Given the description of an element on the screen output the (x, y) to click on. 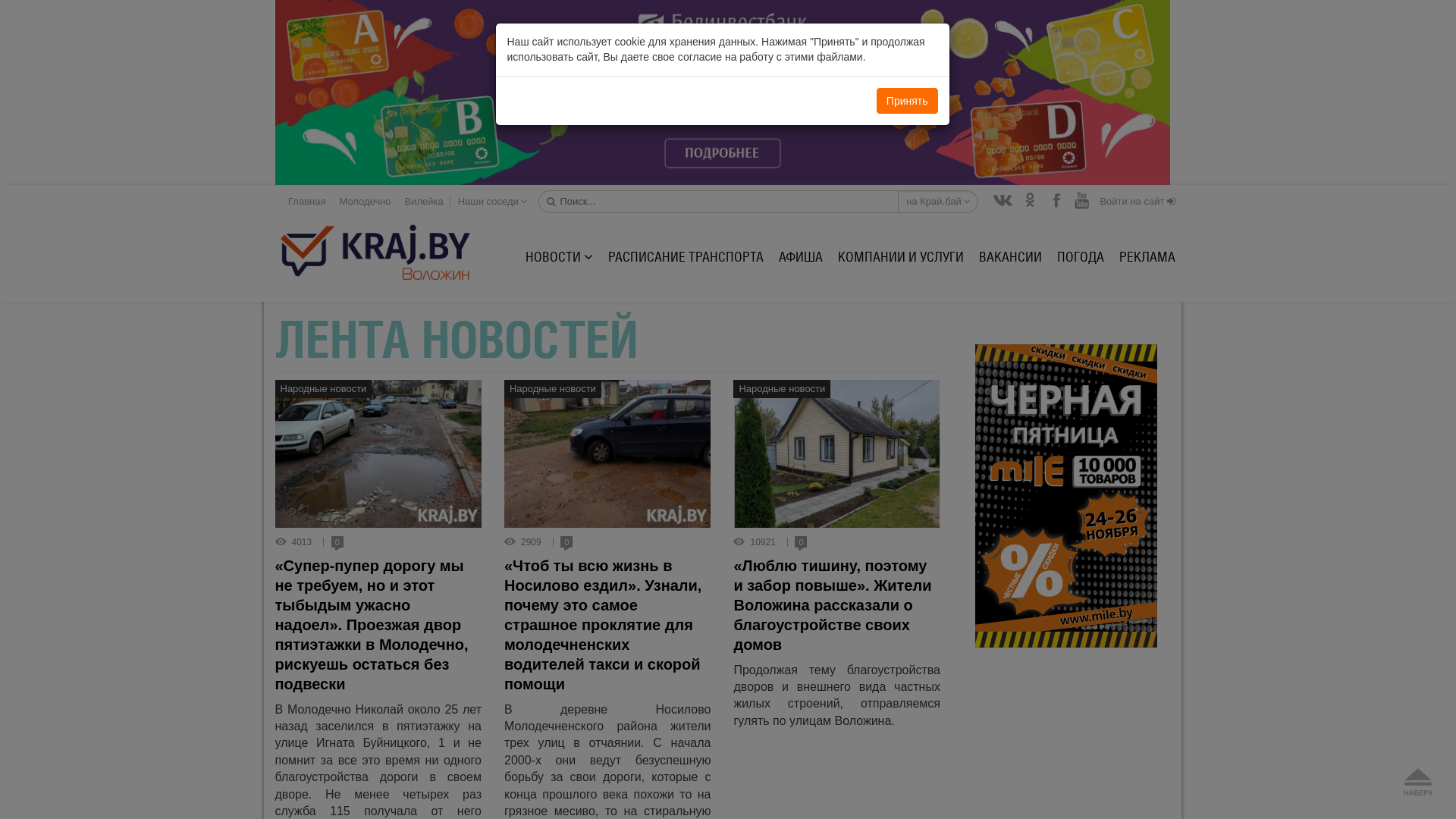
YouTube Element type: hover (1082, 200)
0 Element type: text (800, 543)
0 Element type: text (337, 543)
0 Element type: text (566, 543)
